Given the description of an element on the screen output the (x, y) to click on. 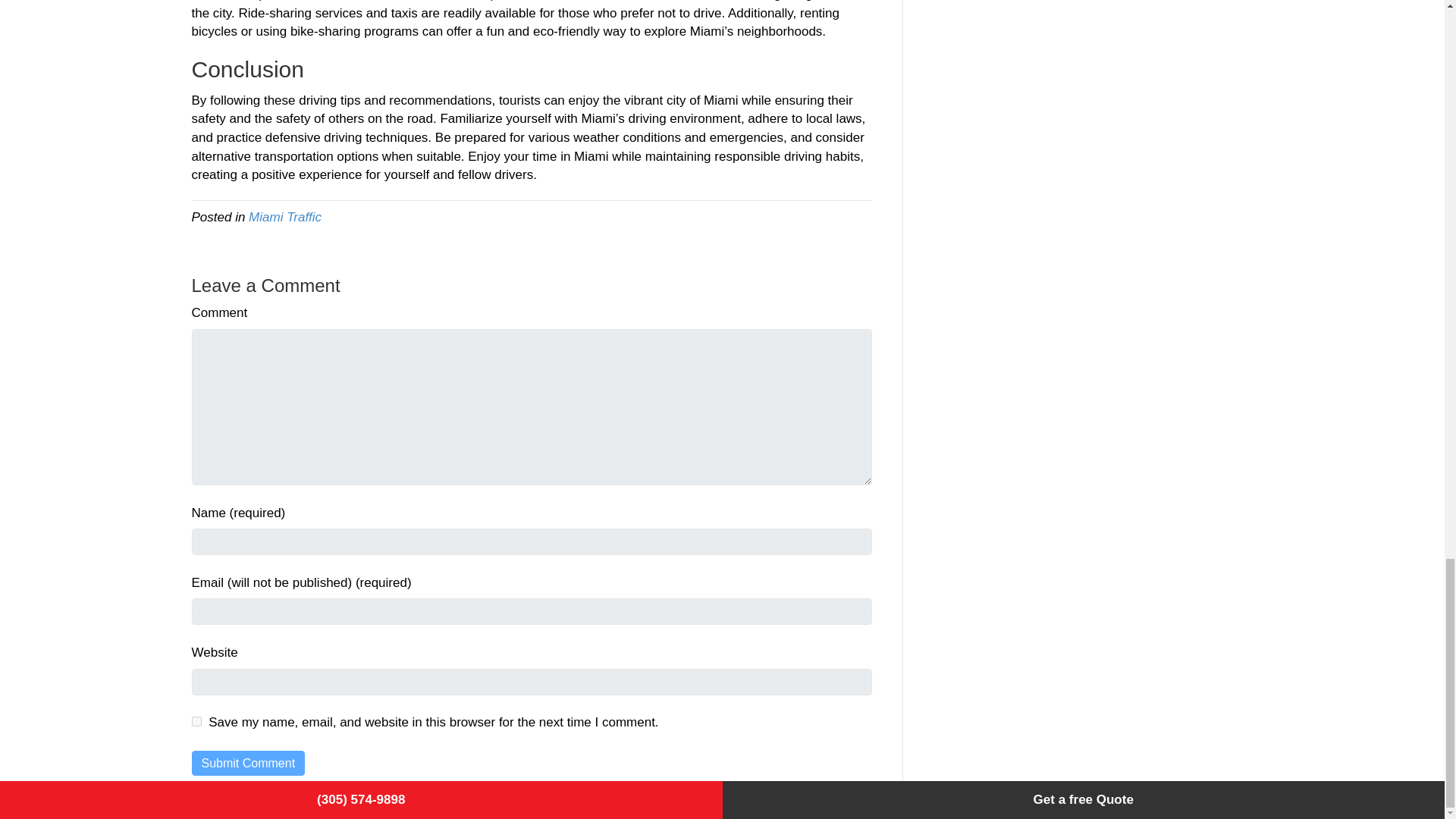
Submit Comment (247, 763)
Miami Traffic (284, 216)
yes (195, 721)
Submit Comment (247, 763)
